Given the description of an element on the screen output the (x, y) to click on. 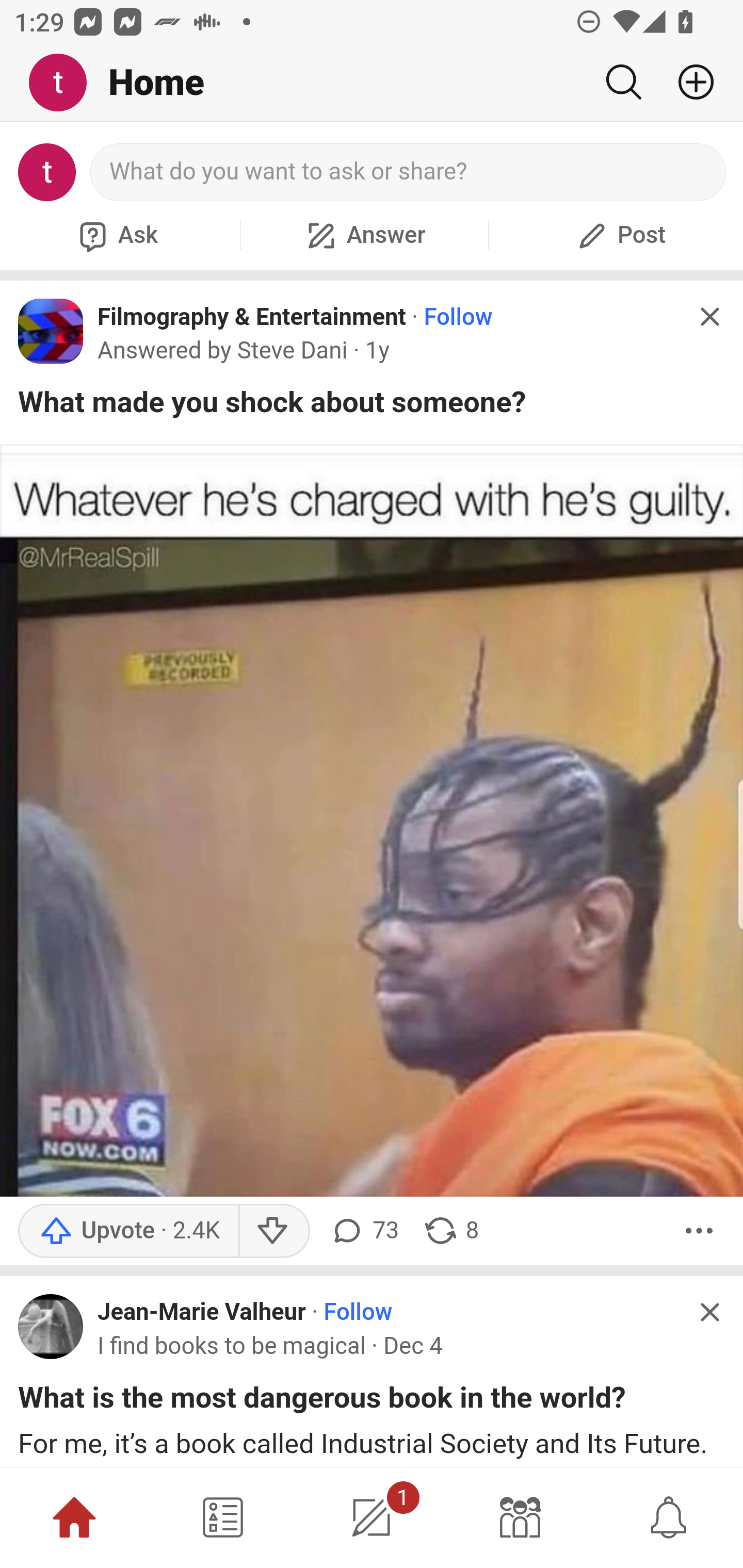
Me (64, 83)
Search (623, 82)
Add (688, 82)
What do you want to ask or share? (408, 172)
Ask (116, 234)
Answer (364, 234)
Post (618, 234)
Hide (709, 316)
Icon for Filmography & Entertainment (50, 330)
Filmography & Entertainment (251, 316)
Follow (457, 316)
Upvote (127, 1230)
Downvote (273, 1230)
73 comments (363, 1230)
8 shares (449, 1230)
More (699, 1230)
Hide (709, 1311)
Profile photo for Jean-Marie Valheur (50, 1326)
Jean-Marie Valheur (201, 1313)
Follow (358, 1313)
1 (371, 1517)
